Given the description of an element on the screen output the (x, y) to click on. 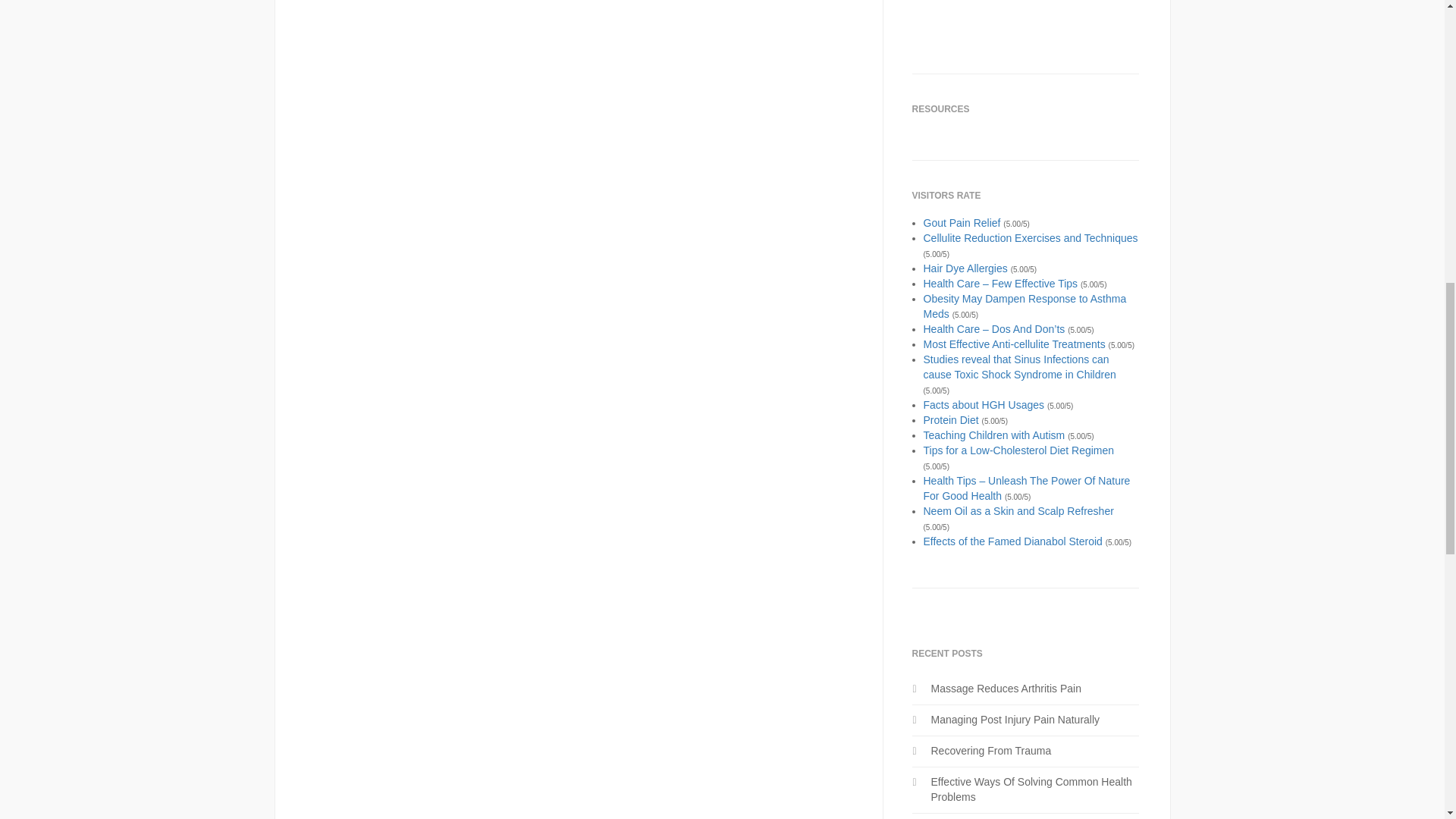
Gout Pain Relief (962, 223)
Protein Diet (950, 419)
Tips for a Low-Cholesterol Diet Regimen (1019, 450)
Cellulite Reduction Exercises and Techniques (1030, 237)
Effects of the Famed Dianabol Steroid (1012, 541)
Massage Reduces Arthritis Pain (1006, 688)
Hair Dye Allergies (965, 268)
Obesity May Dampen Response to Asthma Meds (1024, 306)
Most Effective Anti-cellulite Treatments (1014, 344)
